Given the description of an element on the screen output the (x, y) to click on. 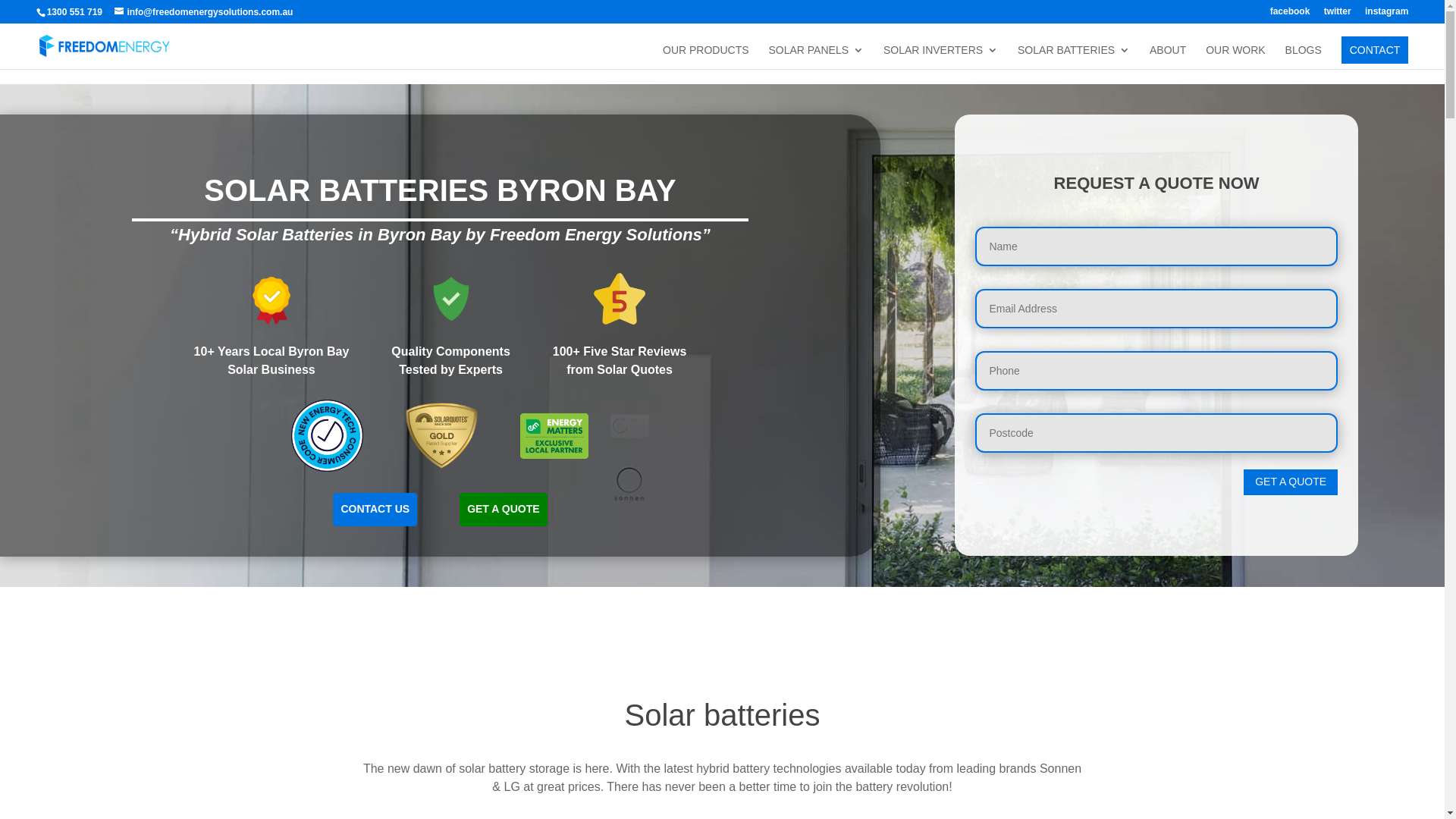
SOLAR PANELS Element type: text (815, 56)
CONTACT US Element type: text (374, 508)
BLOGS Element type: text (1303, 56)
ABOUT Element type: text (1167, 56)
SOLAR BATTERIES Element type: text (1073, 56)
1300 551 719 Element type: text (74, 11)
OUR WORK Element type: text (1235, 56)
OUR PRODUCTS Element type: text (705, 56)
info@freedomenergysolutions.com.au Element type: text (203, 11)
GET A QUOTE Element type: text (1290, 482)
facebook Element type: text (1290, 14)
GET A QUOTE Element type: text (503, 508)
SOLAR INVERTERS Element type: text (940, 56)
twitter Element type: text (1337, 14)
CONTACT Element type: text (1374, 49)
instagram Element type: text (1386, 14)
